Given the description of an element on the screen output the (x, y) to click on. 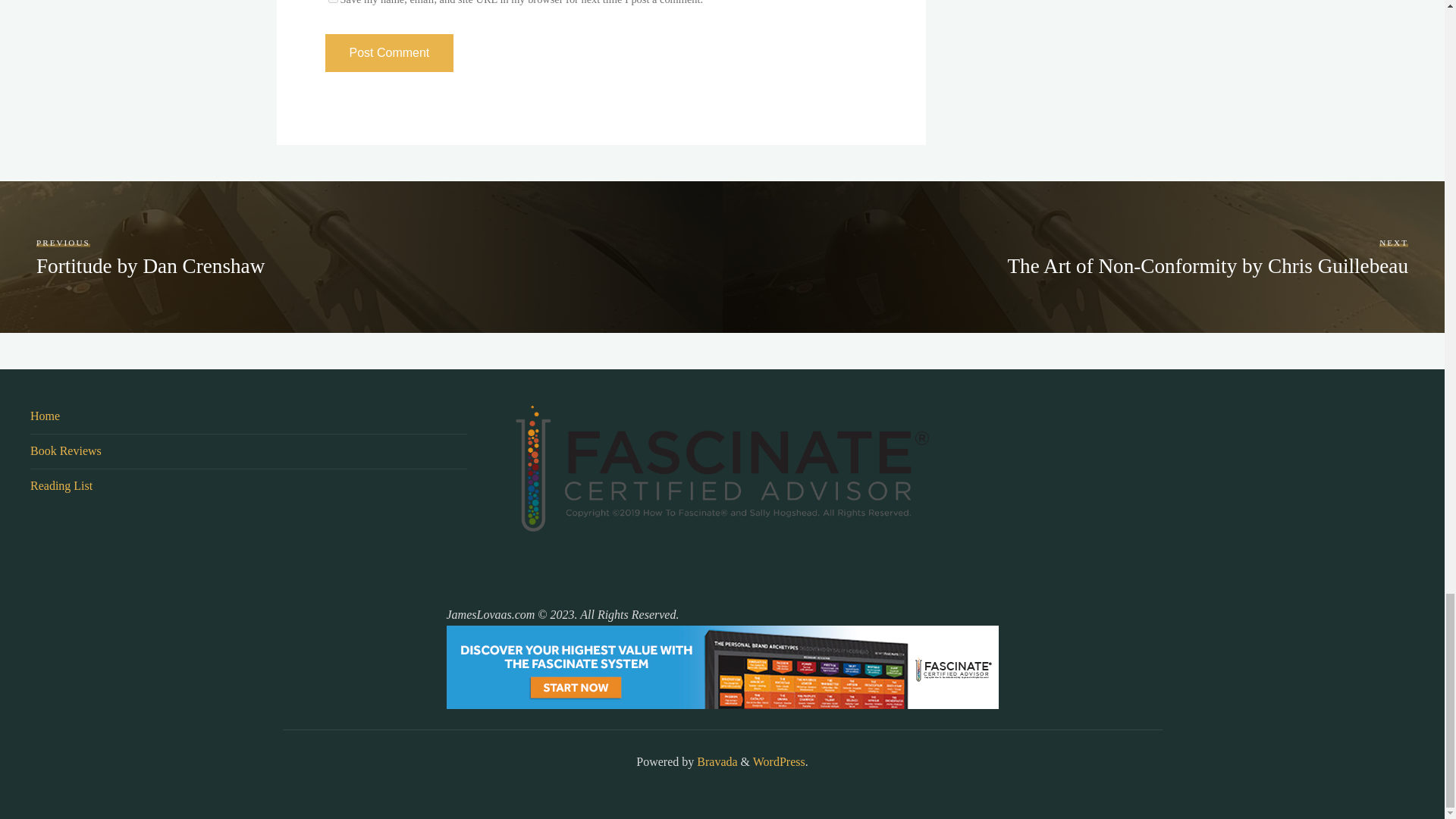
Book Reviews (65, 450)
Bravada (150, 256)
Post Comment (715, 761)
yes (388, 53)
WordPress (332, 1)
Post Comment (778, 761)
Bravada WordPress Theme by Cryout Creations (388, 53)
Home (1207, 256)
Reading List (715, 761)
Semantic Personal Publishing Platform (44, 415)
